Given the description of an element on the screen output the (x, y) to click on. 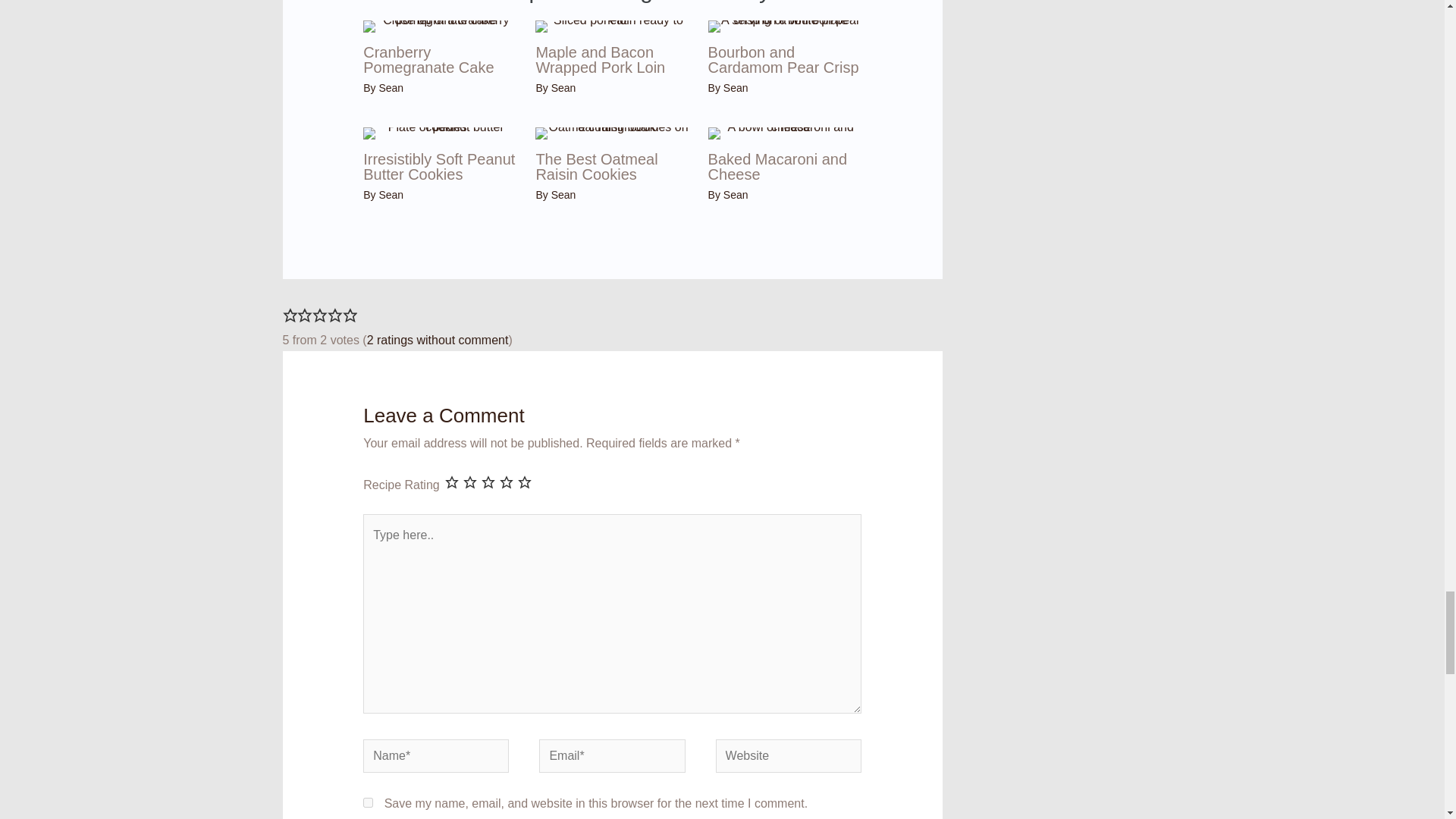
View all posts by Sean (390, 193)
yes (367, 802)
View all posts by Sean (735, 87)
View all posts by Sean (563, 193)
View all posts by Sean (390, 87)
View all posts by Sean (563, 87)
View all posts by Sean (735, 193)
